Given the description of an element on the screen output the (x, y) to click on. 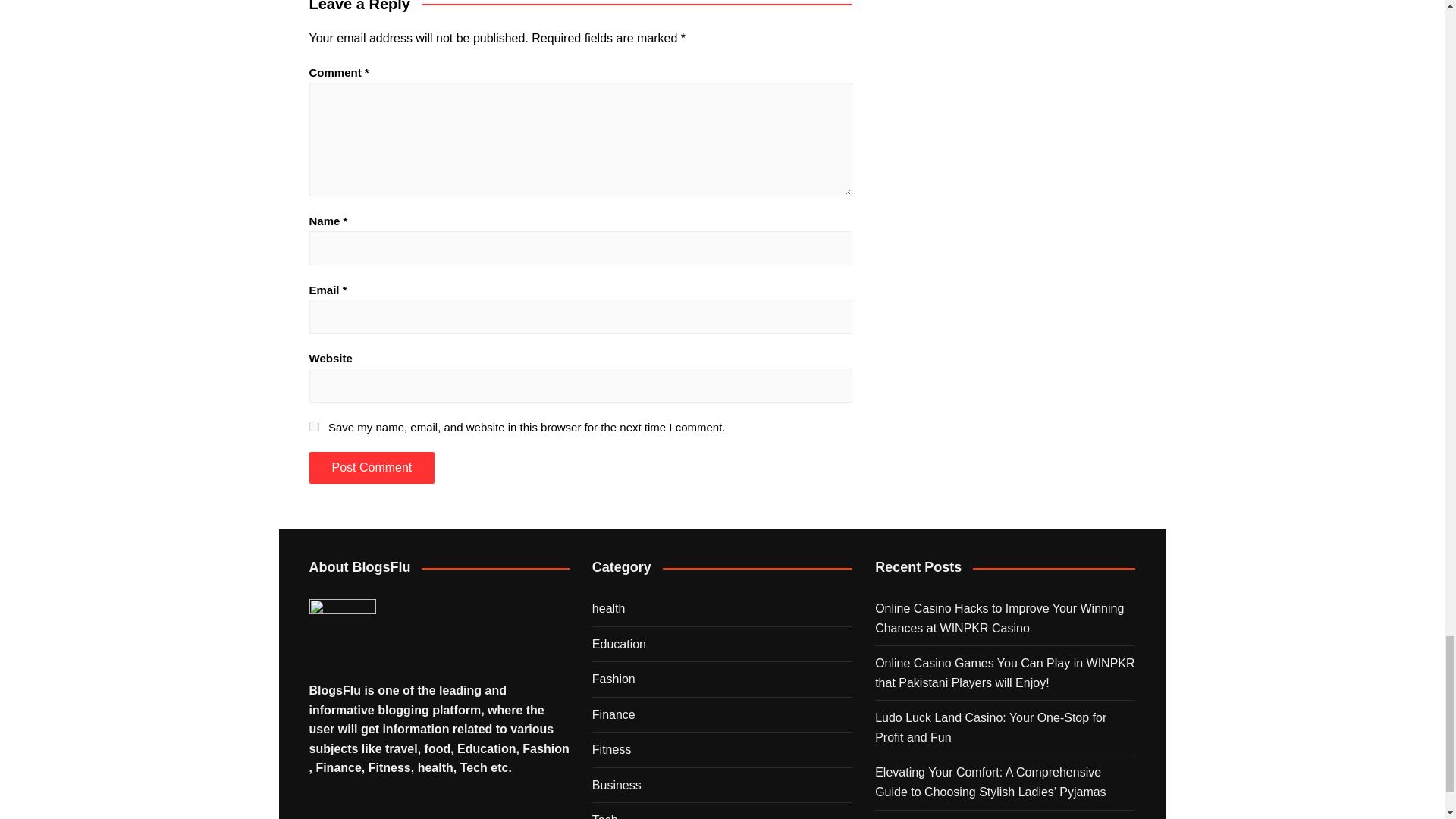
yes (313, 426)
Post Comment (371, 468)
